Given the description of an element on the screen output the (x, y) to click on. 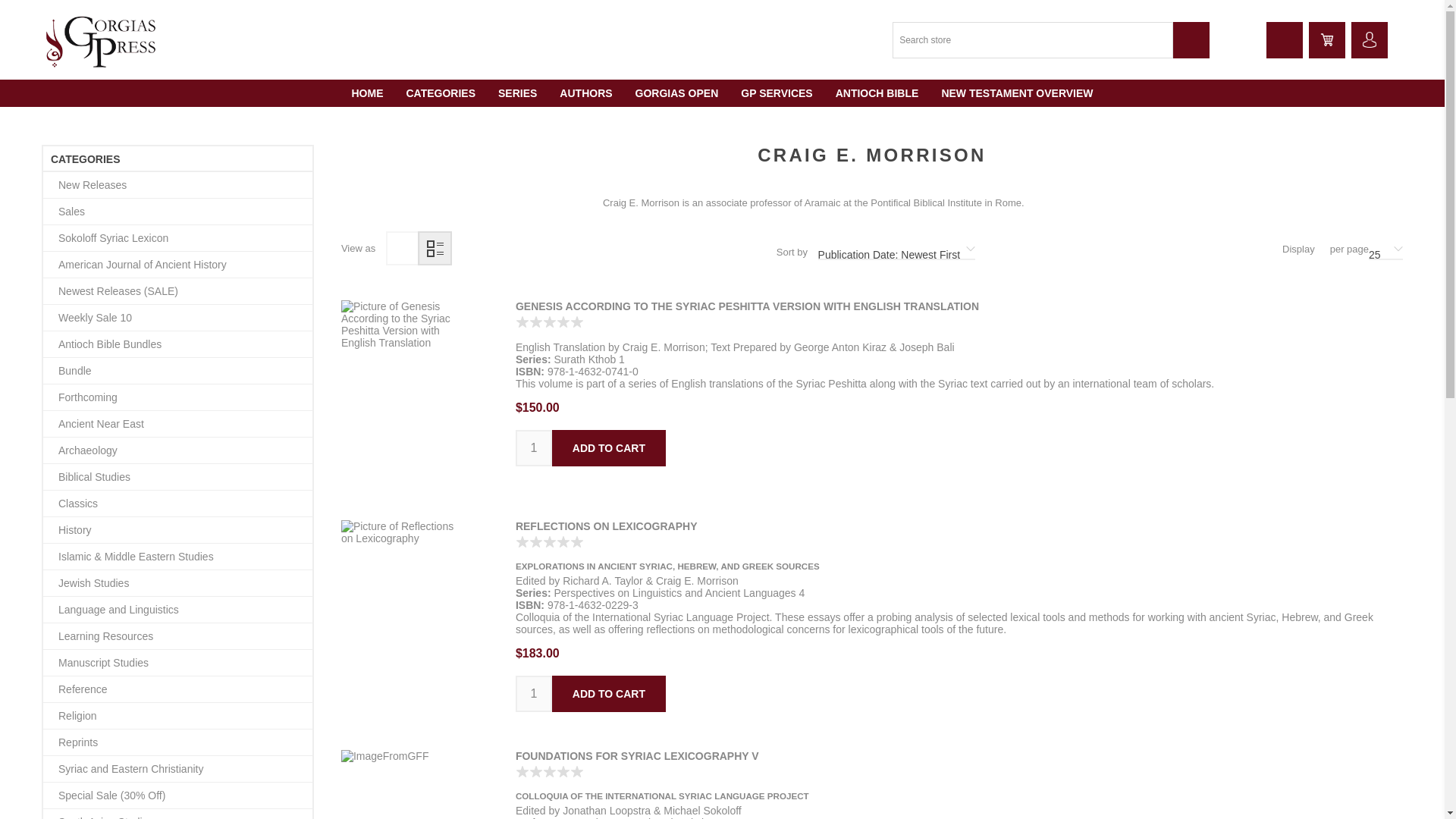
HOME (366, 93)
1 (533, 693)
Home (366, 93)
Gorgias Press LLC (101, 39)
1 (533, 447)
Search (1191, 39)
AUTHORS (585, 93)
... (1369, 39)
GORGIAS OPEN (677, 93)
SERIES (517, 93)
